Given the description of an element on the screen output the (x, y) to click on. 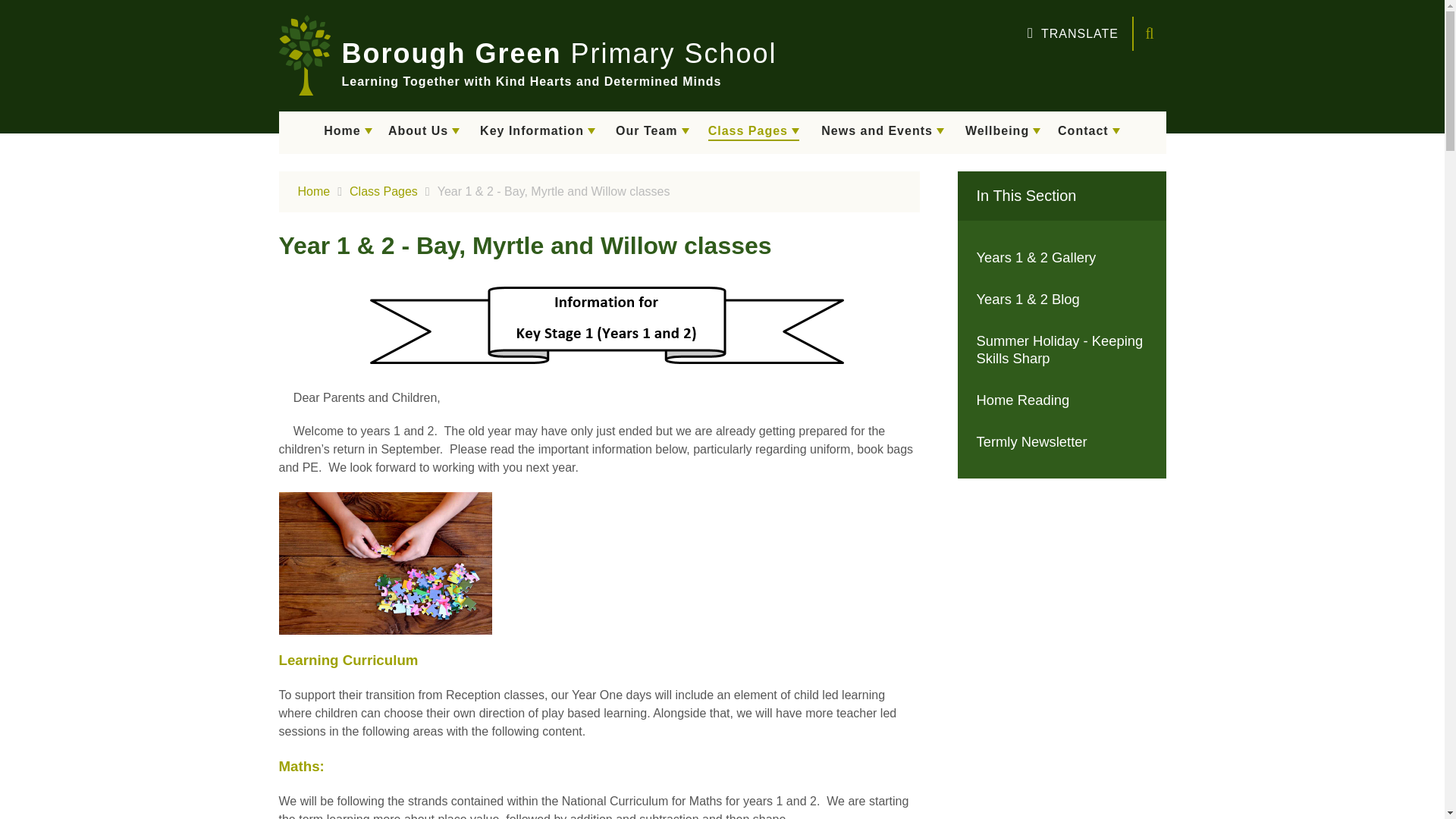
Home (348, 131)
Key Information (537, 131)
About Us (422, 131)
